Given the description of an element on the screen output the (x, y) to click on. 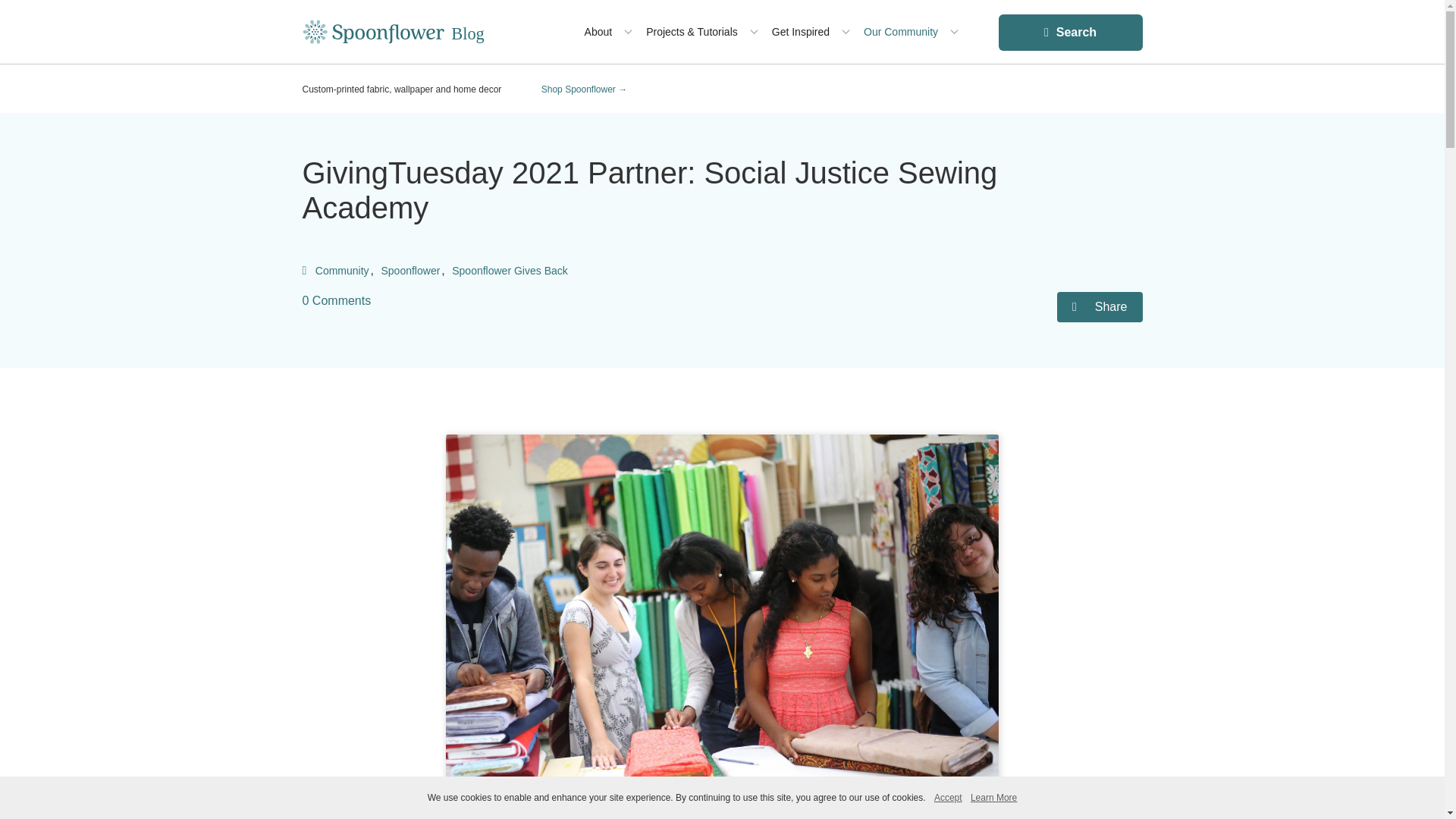
Get Inspired (800, 31)
0 Comments (336, 300)
Search (1069, 32)
Our Community (900, 31)
Okay, close (948, 797)
